Given the description of an element on the screen output the (x, y) to click on. 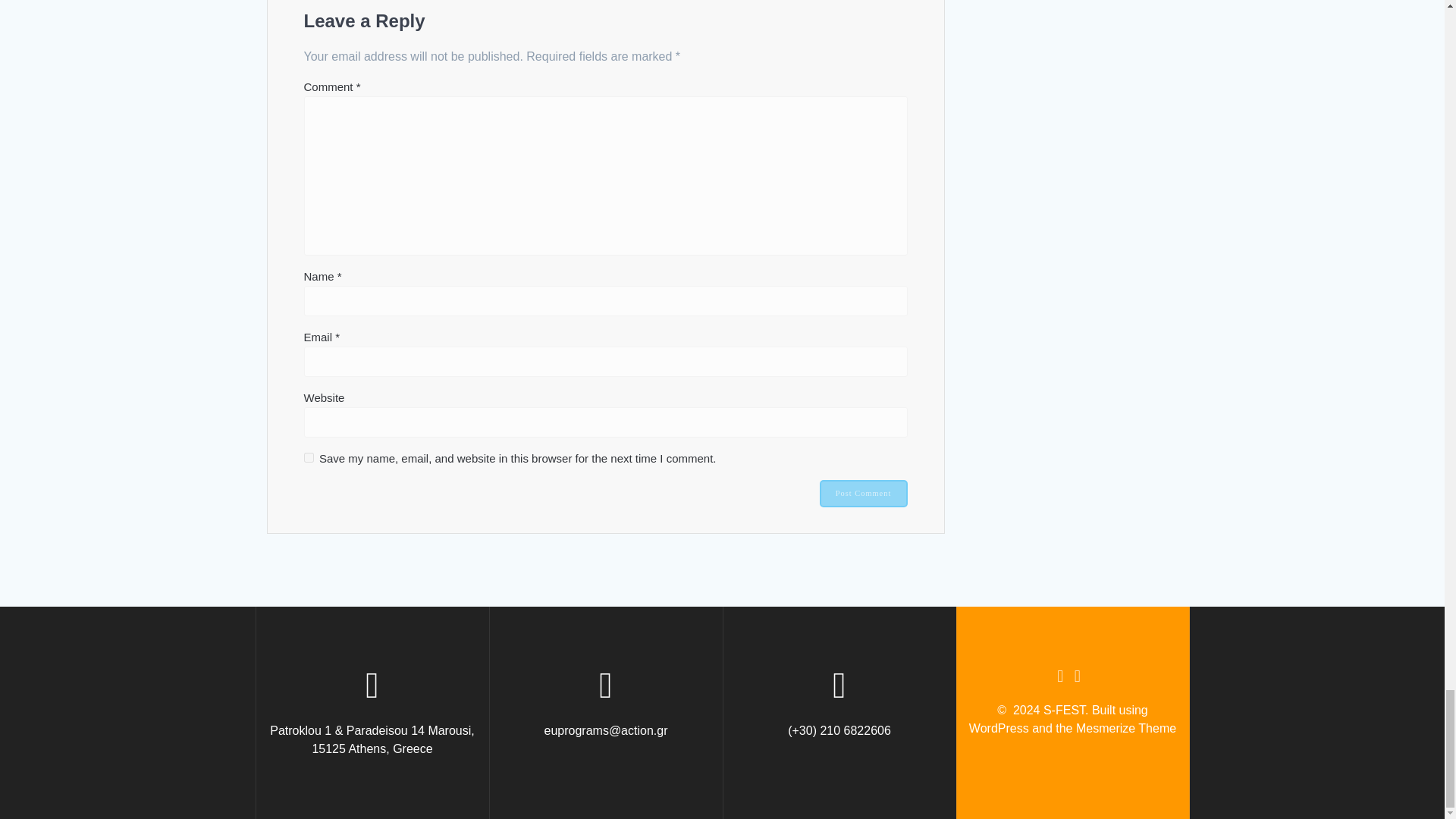
Mesmerize Theme (1125, 727)
yes (307, 457)
Post Comment (863, 492)
Post Comment (863, 492)
